Given the description of an element on the screen output the (x, y) to click on. 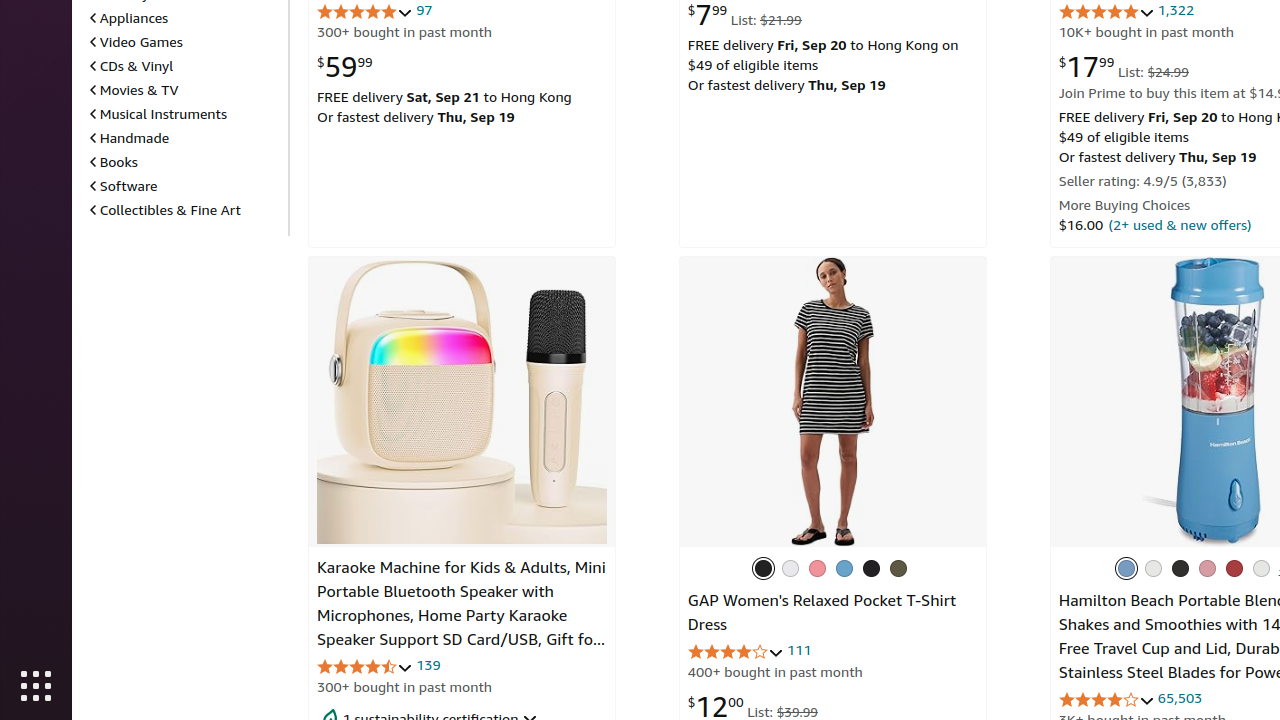
Soft Cornflower 452 Element type: push-button (844, 568)
True Black Element type: push-button (871, 568)
2 Jars - White Element type: push-button (1153, 568)
Handmade Element type: link (130, 137)
4.1 out of 5 stars Element type: push-button (735, 651)
